Given the description of an element on the screen output the (x, y) to click on. 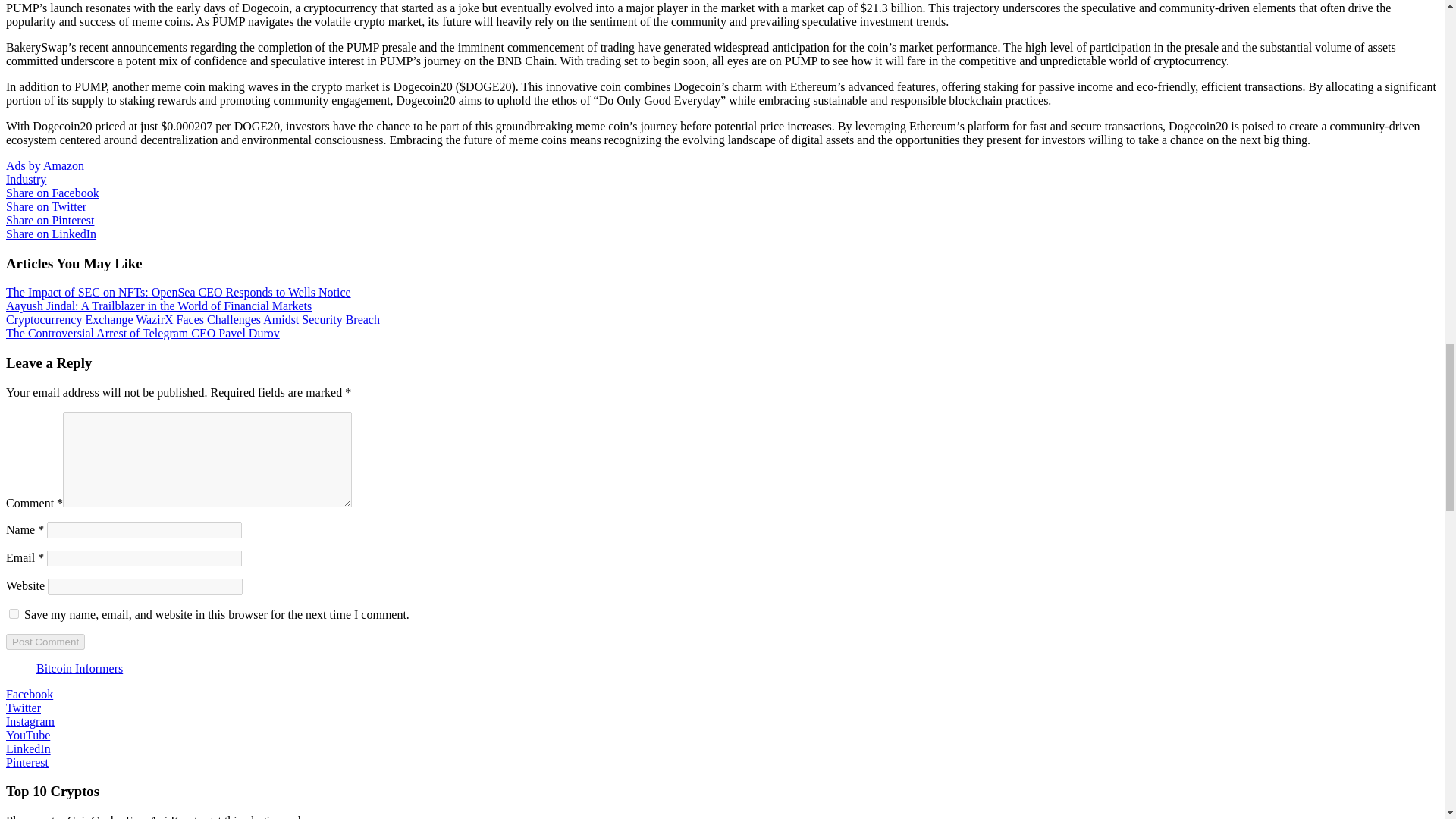
yes (13, 614)
Industry (25, 178)
Post Comment (44, 641)
